Given the description of an element on the screen output the (x, y) to click on. 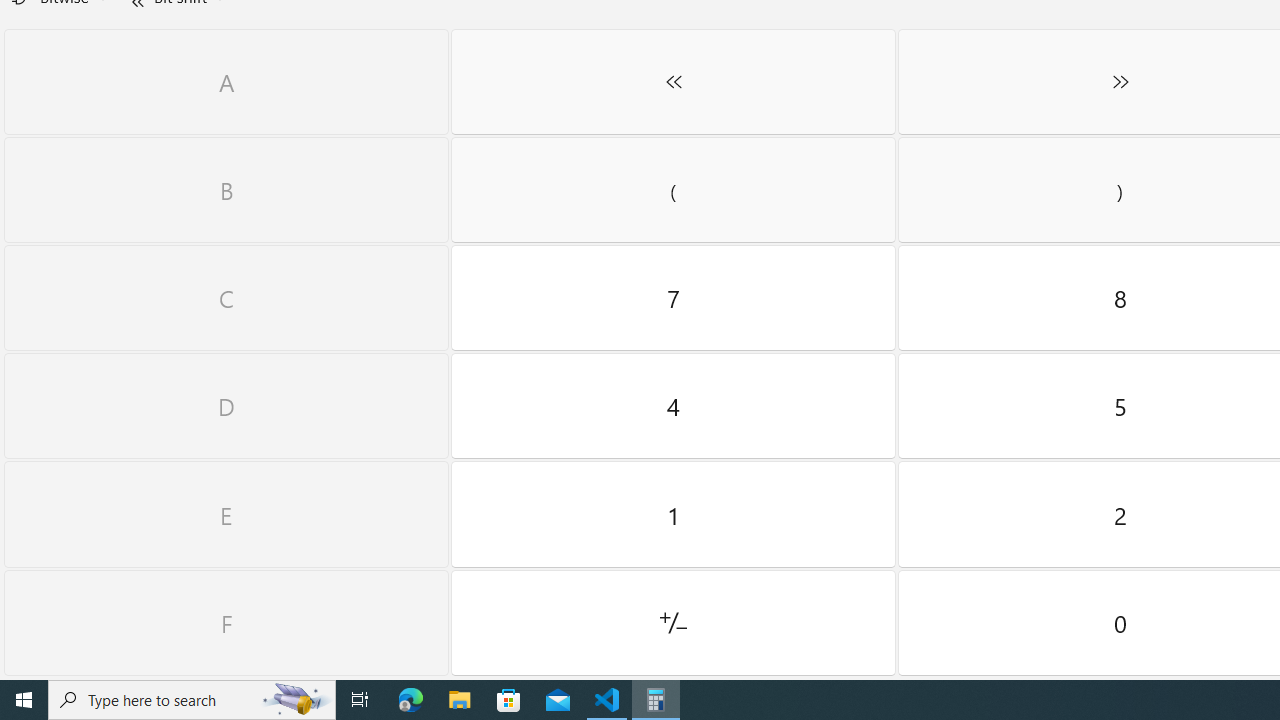
A (226, 81)
D (226, 405)
Seven (673, 297)
Search highlights icon opens search home window (295, 699)
F (226, 623)
Task View (359, 699)
Left shift (673, 81)
